Given the description of an element on the screen output the (x, y) to click on. 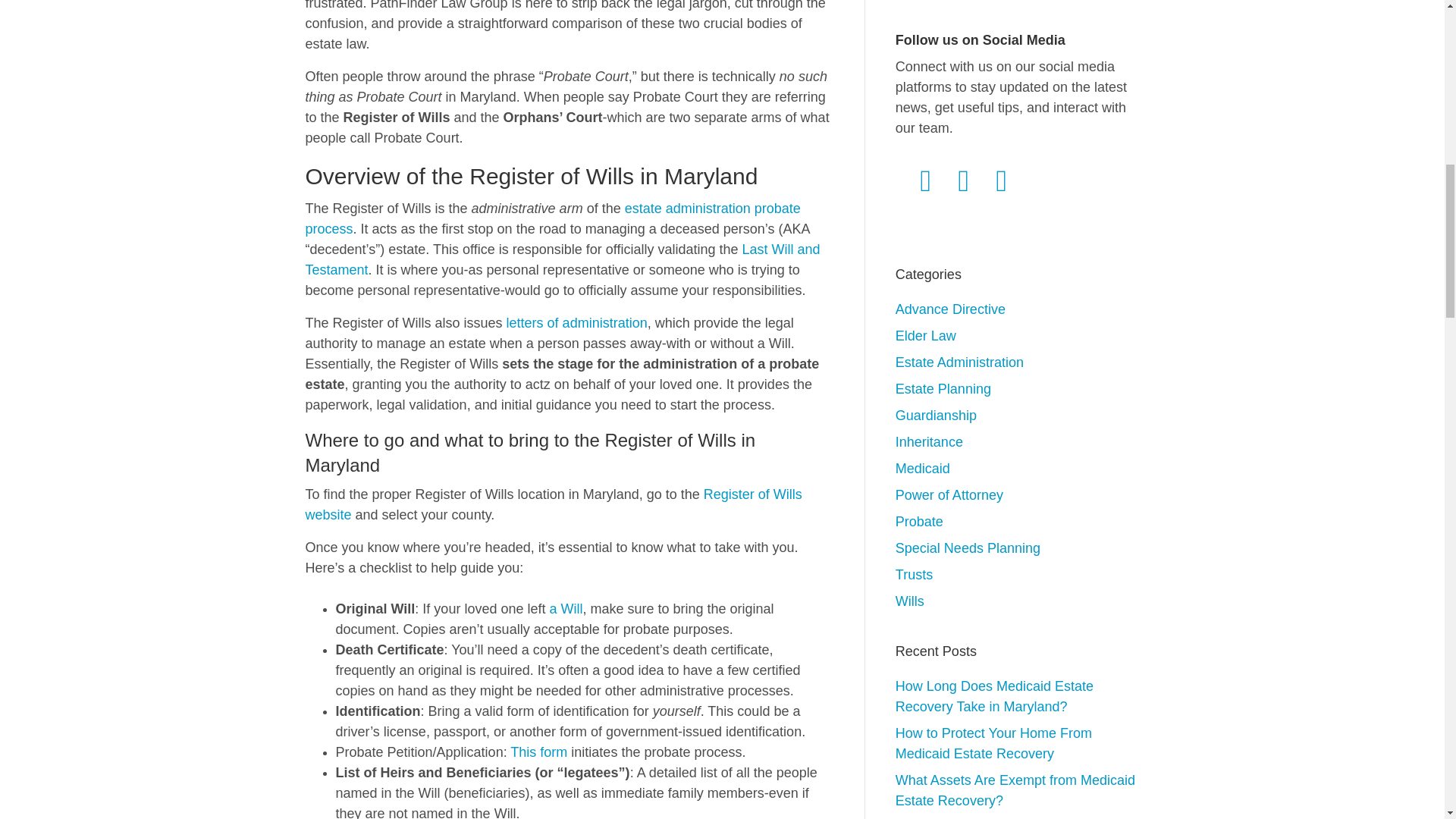
A Brief Guide to Letters of Administration in Maryland (576, 322)
Register of Wills website (553, 504)
This form (539, 752)
Register of Wills website (553, 504)
estate administration probate process (551, 218)
Last Will and Testament (561, 259)
letters of administration (576, 322)
Last Will and Testament in Maryland: Get Peace of Mind (561, 259)
a Will (565, 608)
Last Will and Testament in Maryland: Get Peace of Mind (565, 608)
